Given the description of an element on the screen output the (x, y) to click on. 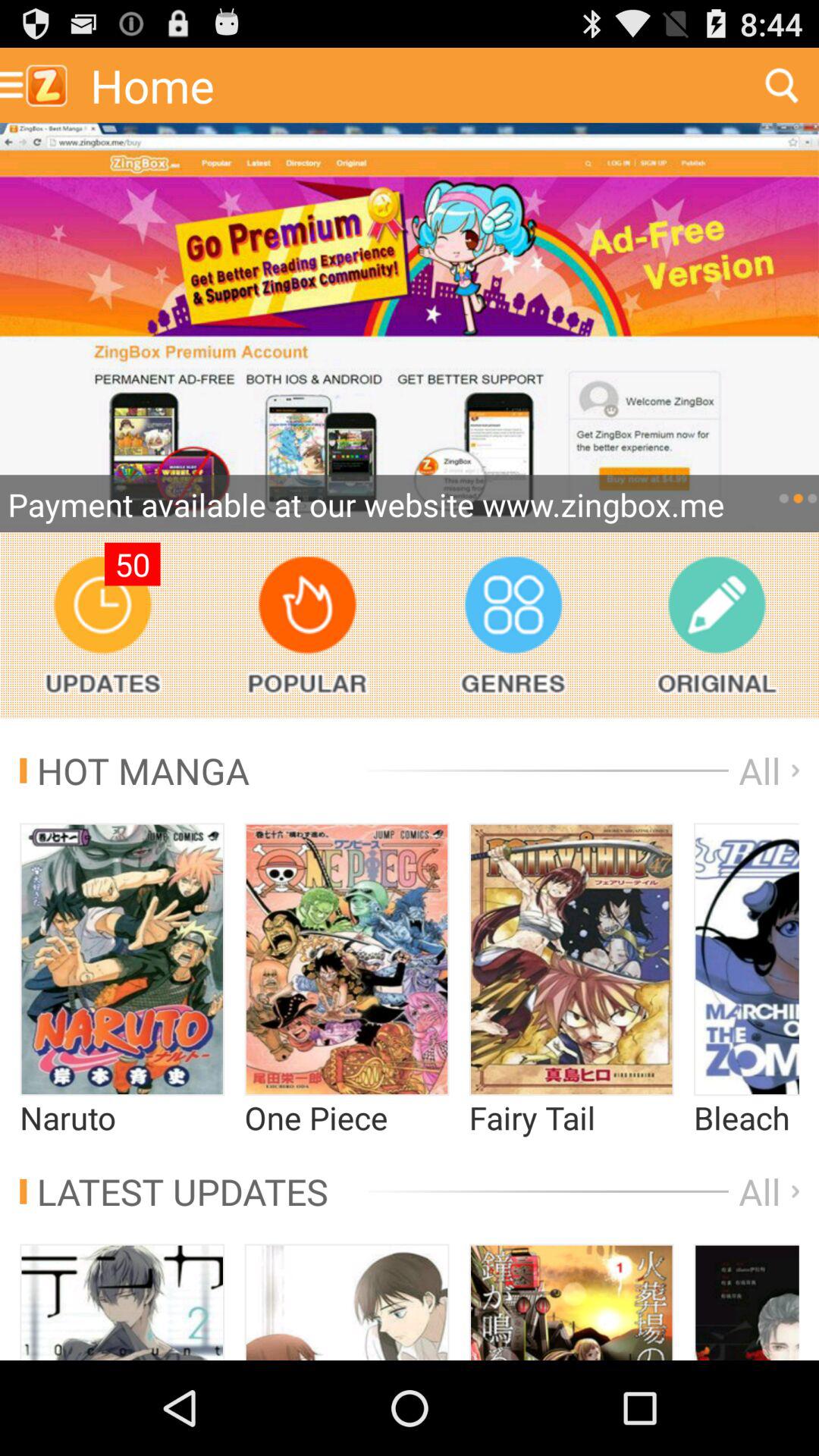
read updates (101, 625)
